Given the description of an element on the screen output the (x, y) to click on. 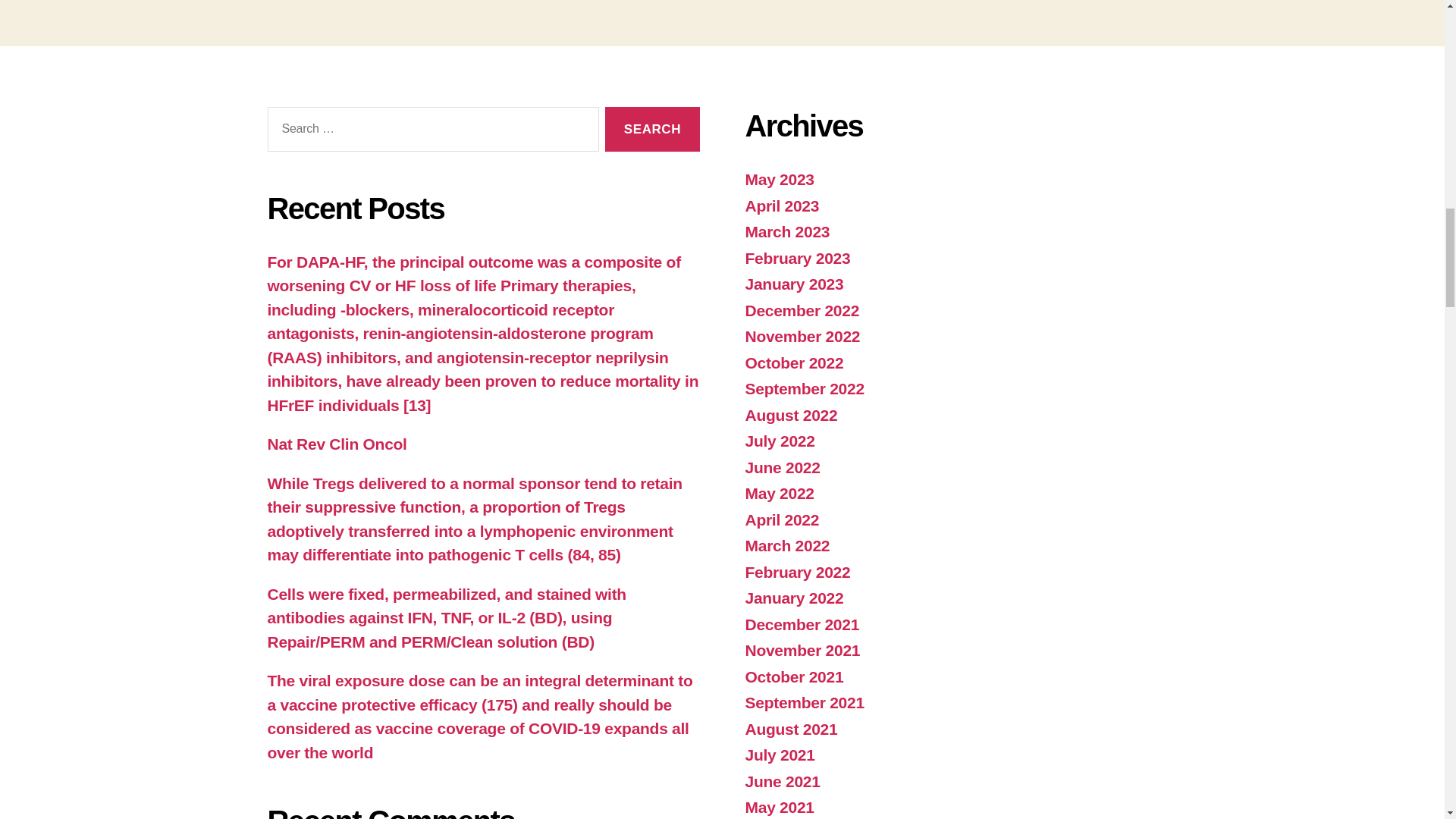
Nat Rev Clin Oncol (336, 443)
December 2022 (801, 310)
May 2023 (778, 179)
July 2022 (778, 440)
November 2022 (802, 335)
October 2022 (793, 362)
September 2022 (803, 388)
Search (651, 129)
Search (651, 129)
Search (651, 129)
April 2023 (781, 205)
February 2023 (797, 257)
March 2023 (786, 231)
August 2022 (790, 415)
January 2023 (793, 283)
